Given the description of an element on the screen output the (x, y) to click on. 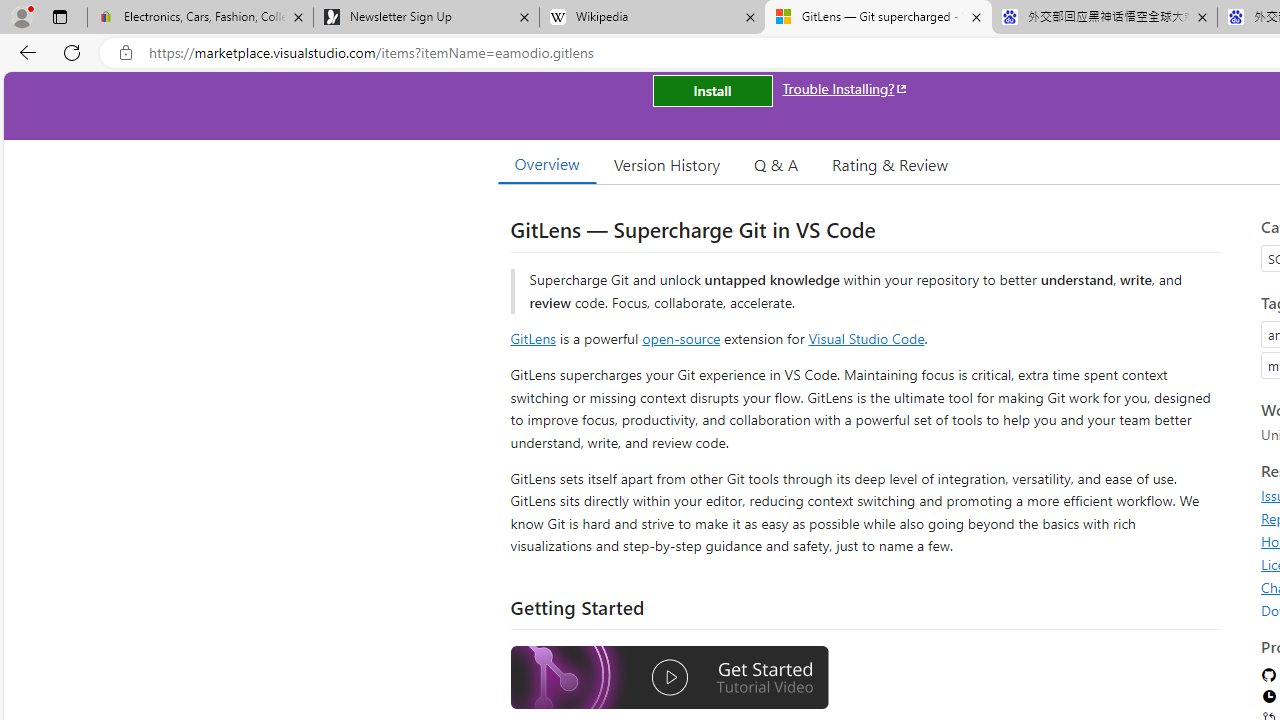
Watch the GitLens Getting Started video (669, 679)
GitLens (532, 337)
Overview (546, 164)
Rating & Review (890, 164)
Version History (667, 164)
Newsletter Sign Up (425, 17)
open-source (681, 337)
Install (712, 90)
